Given the description of an element on the screen output the (x, y) to click on. 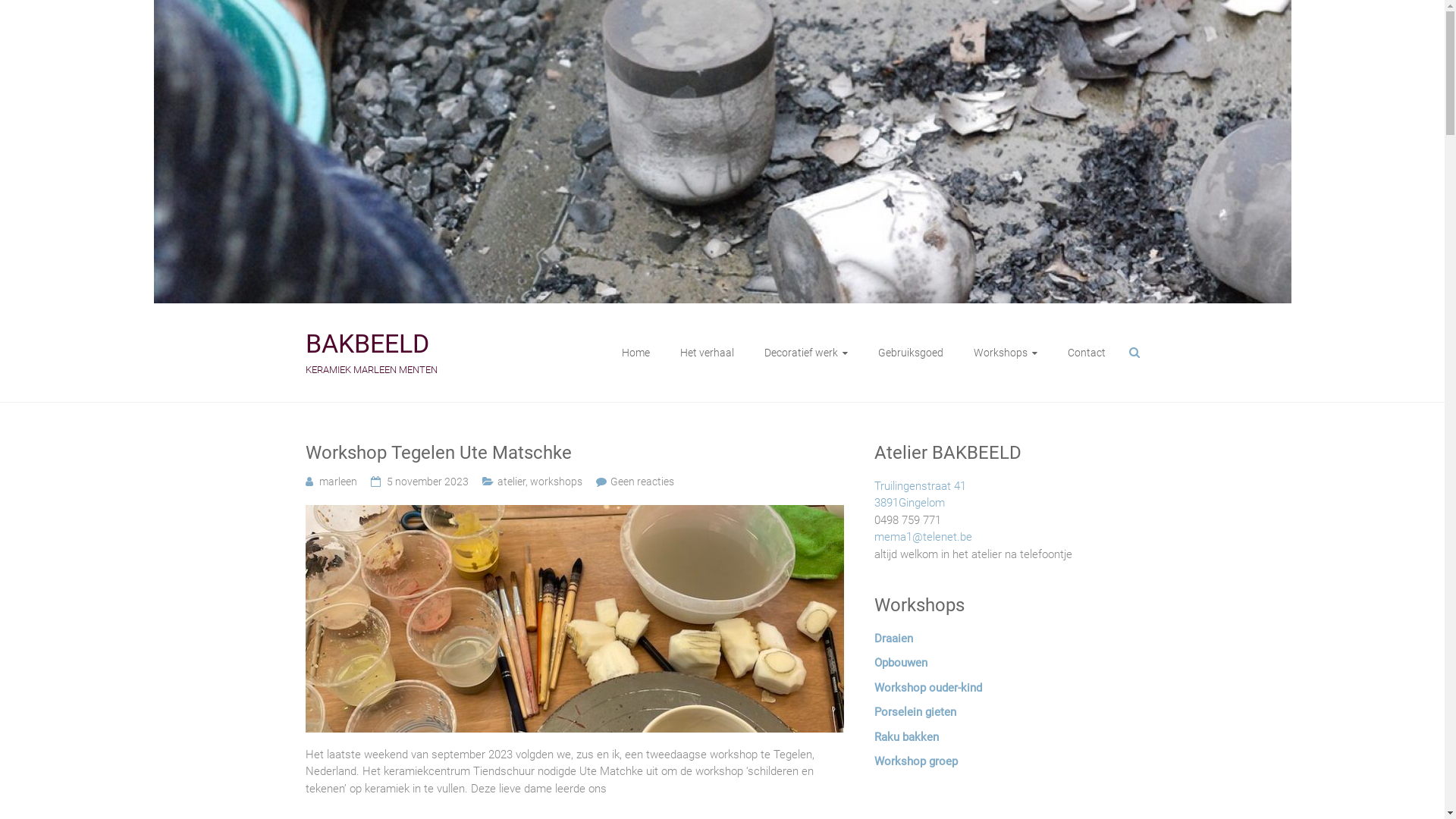
Truilingenstraat 41
3891Gingelom Element type: text (919, 494)
Draaien Element type: text (892, 638)
Workshop ouder-kind Element type: text (927, 687)
BAKBEELD Element type: text (366, 343)
Gebruiksgoed Element type: text (910, 352)
Workshop Tegelen Ute Matschke Element type: text (573, 453)
workshops Element type: text (555, 481)
mema1@telenet.be Element type: text (922, 536)
Opbouwen Element type: text (899, 662)
Het verhaal Element type: text (706, 352)
Workshop groep Element type: text (915, 761)
Geen reacties Element type: text (641, 481)
marleen Element type: text (337, 481)
Contact Element type: text (1086, 352)
5 november 2023 Element type: text (427, 481)
Home Element type: text (635, 352)
atelier Element type: text (511, 481)
Workshop Tegelen Ute Matschke Element type: hover (573, 618)
Workshops Element type: text (1005, 352)
Raku bakken Element type: text (905, 736)
Workshop Tegelen Ute Matschke Element type: hover (573, 513)
Porselein gieten Element type: text (914, 711)
Decoratief werk Element type: text (805, 352)
